Given the description of an element on the screen output the (x, y) to click on. 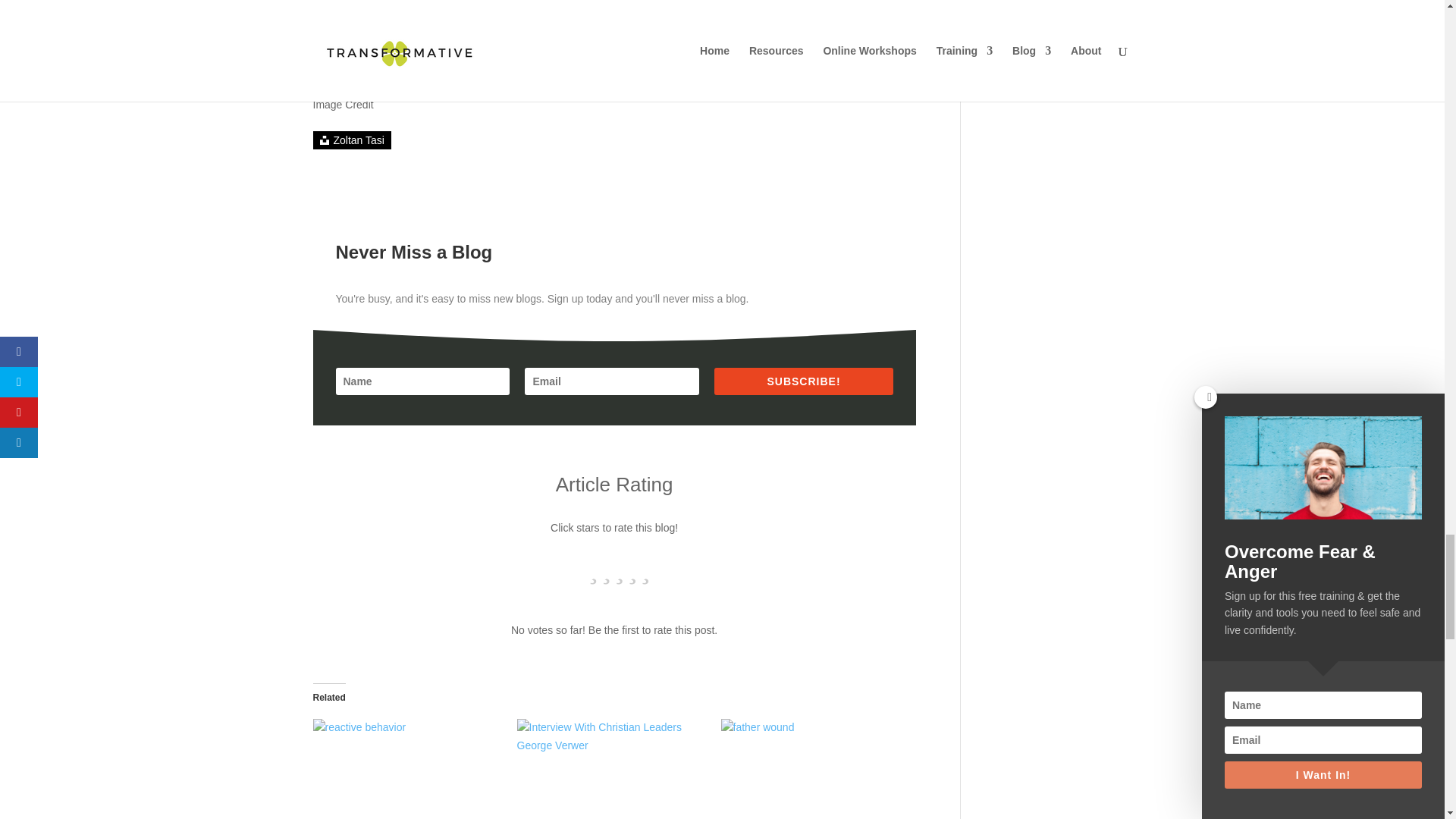
unsplash-logoZoltan Tasi (351, 140)
Watch on Youtube (614, 17)
SUBSCRIBE! (803, 380)
Just Breathe: Keys to Regulate Reactive Behavior (406, 769)
unsplash-logo (324, 139)
